Given the description of an element on the screen output the (x, y) to click on. 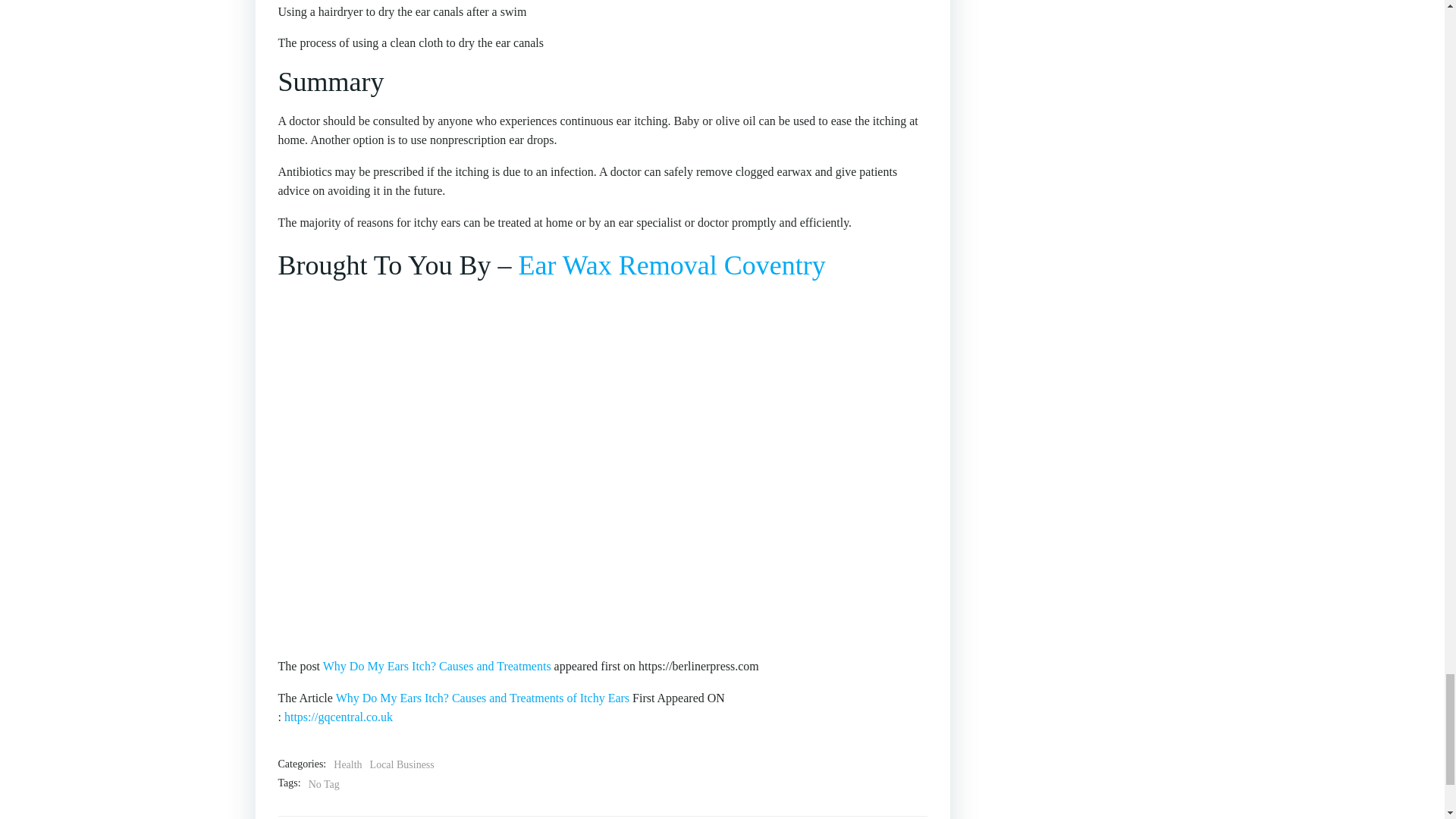
Why Do My Ears Itch? Causes and Treatments of Itchy Ears (482, 697)
Why Do My Ears Itch? Causes and Treatments (437, 666)
Health (347, 764)
Local Business (401, 764)
Ear Wax Removal Coventry (671, 265)
